Given the description of an element on the screen output the (x, y) to click on. 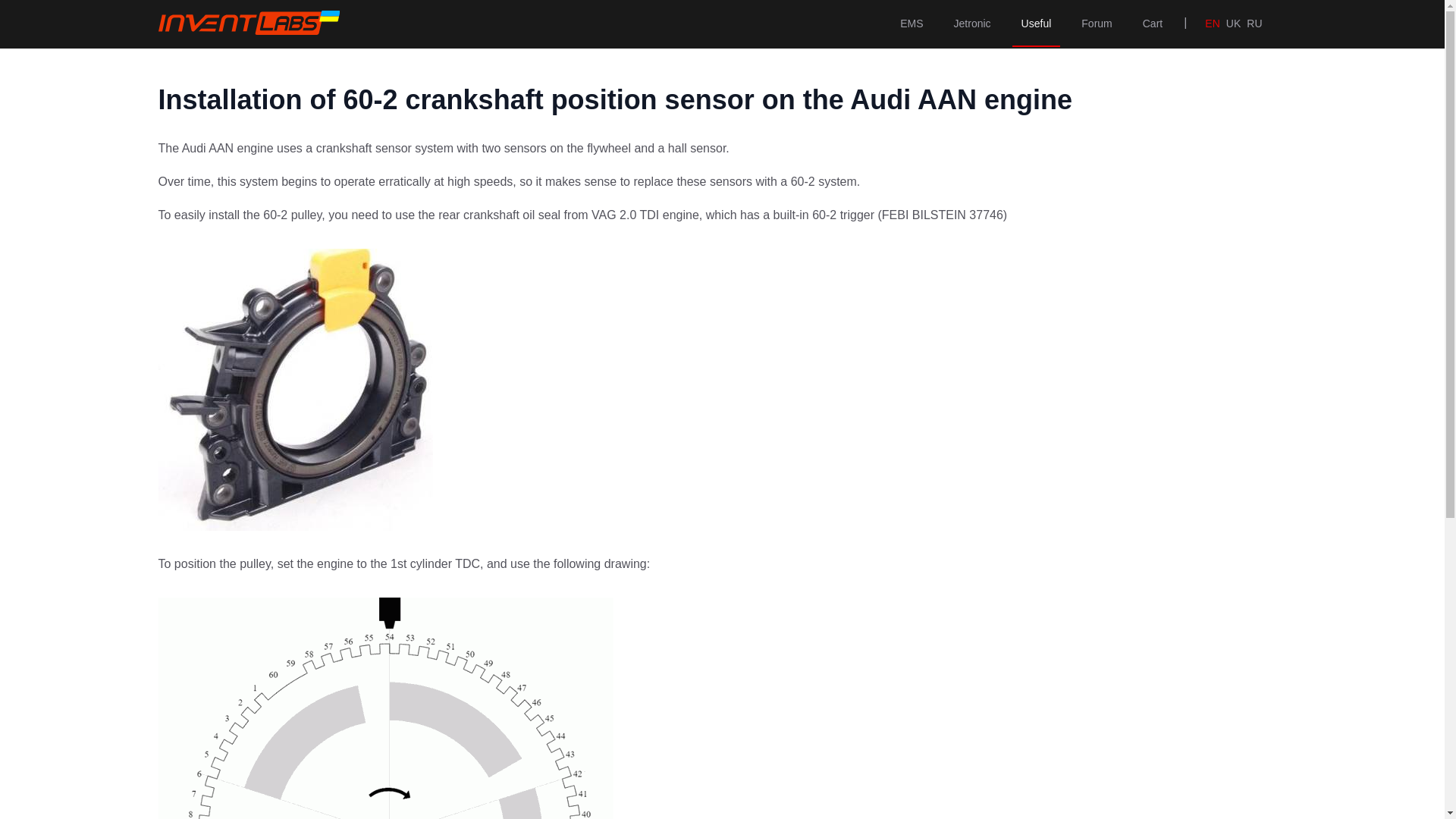
Jetronic (972, 23)
Forum (1096, 23)
EMS (911, 23)
Useful (1036, 23)
